Given the description of an element on the screen output the (x, y) to click on. 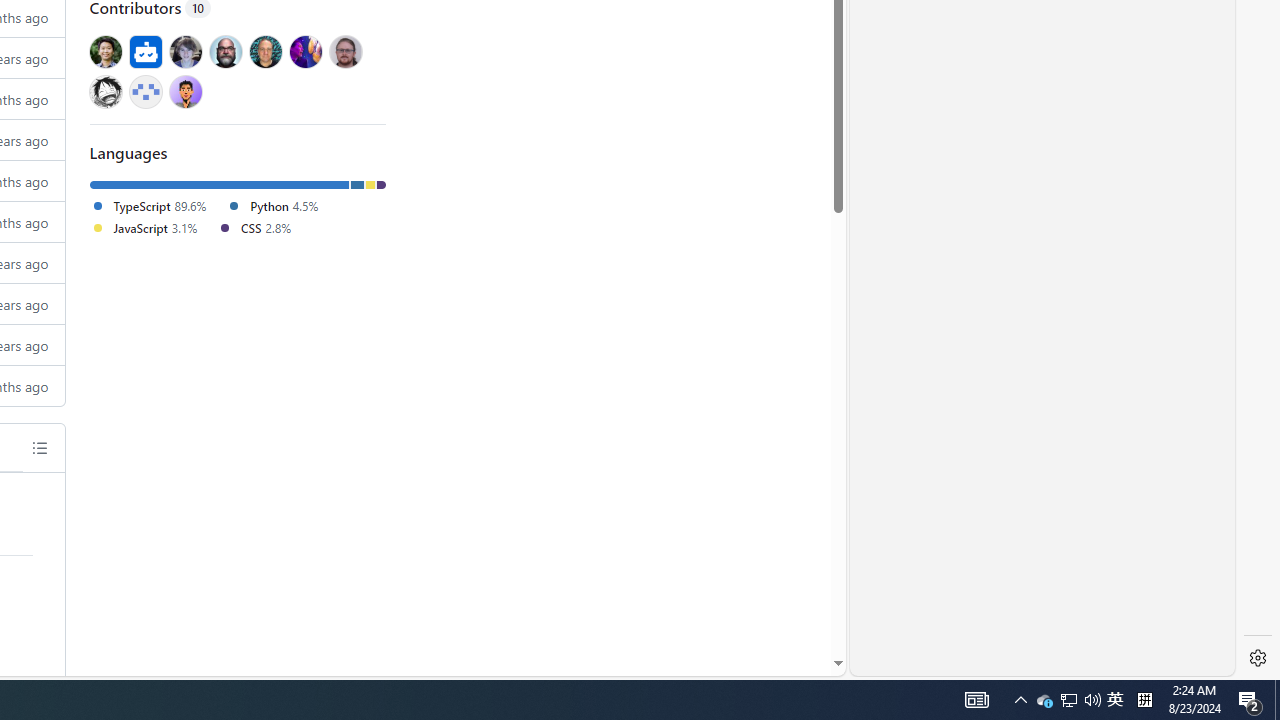
@web3Gurung (185, 91)
